Given the description of an element on the screen output the (x, y) to click on. 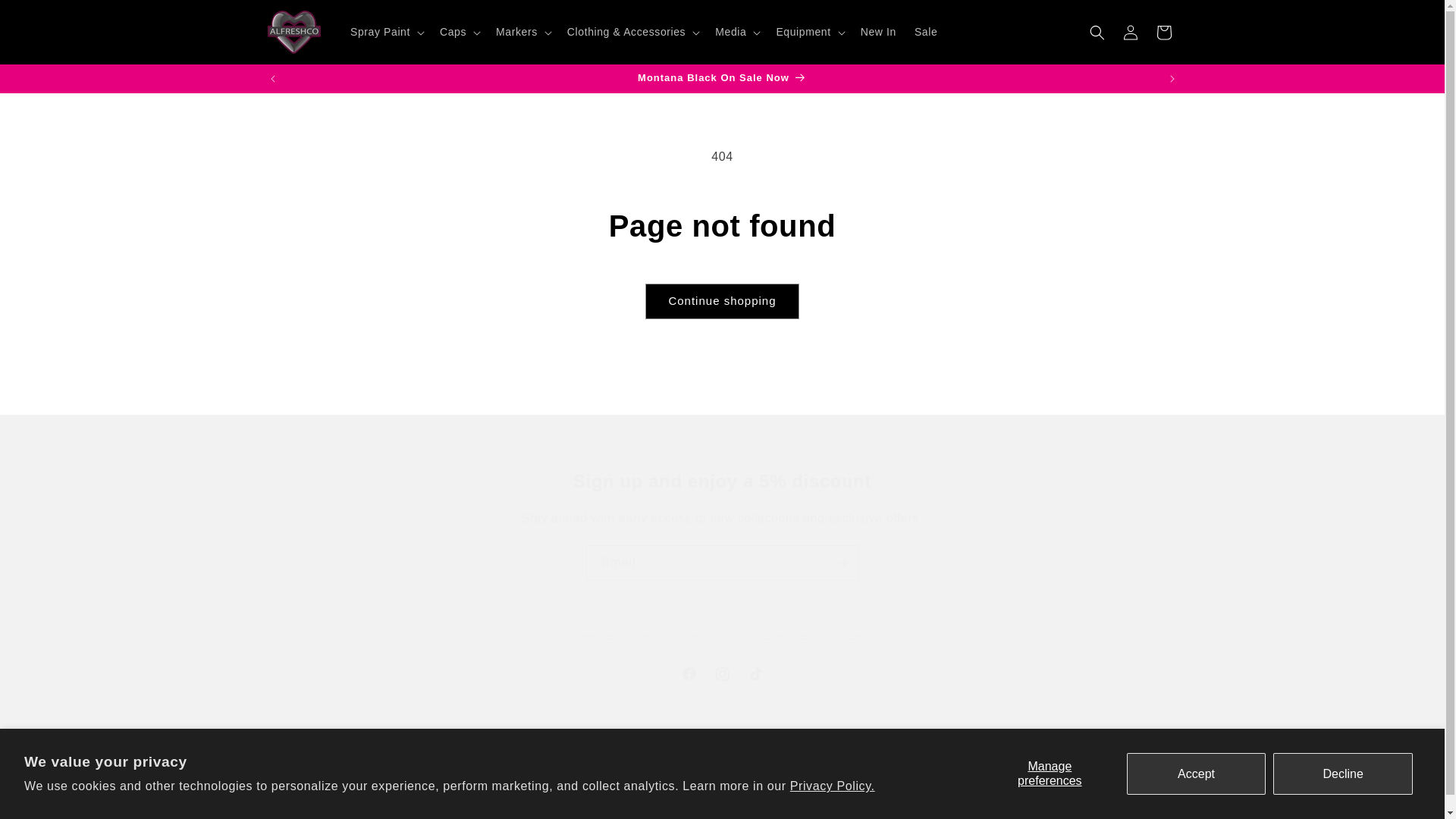
Accept (1196, 772)
Features About Support Train Enquiries Gift Card (721, 636)
Manage preferences (1049, 772)
Decline (1342, 772)
Skip to content (45, 17)
Email (721, 674)
Features About Support Train Enquiries Gift Card (722, 562)
Privacy Policy. (721, 621)
